Given the description of an element on the screen output the (x, y) to click on. 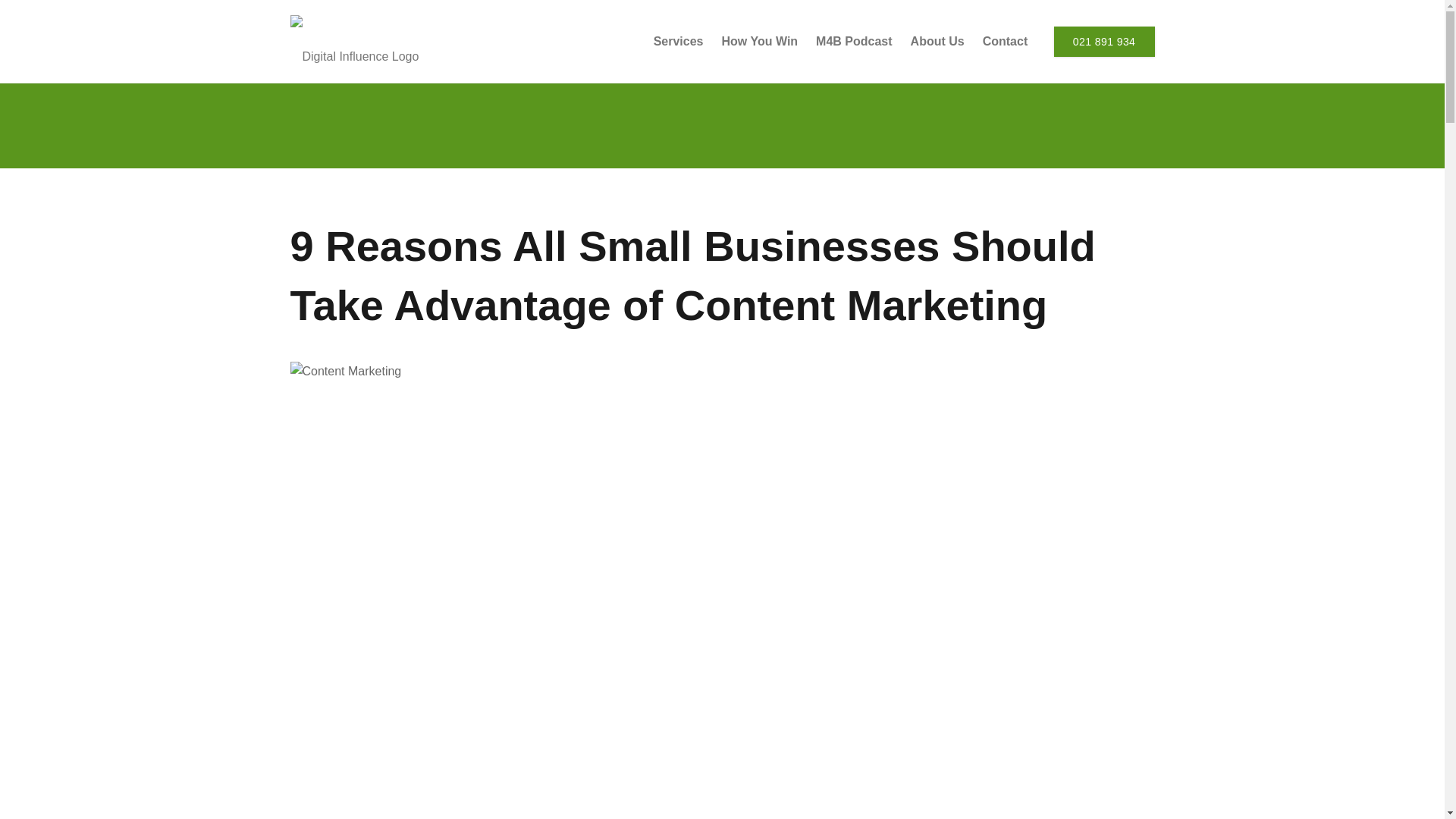
How You Win (760, 41)
021 891 934 (1104, 41)
M4B Podcast (853, 41)
